Given the description of an element on the screen output the (x, y) to click on. 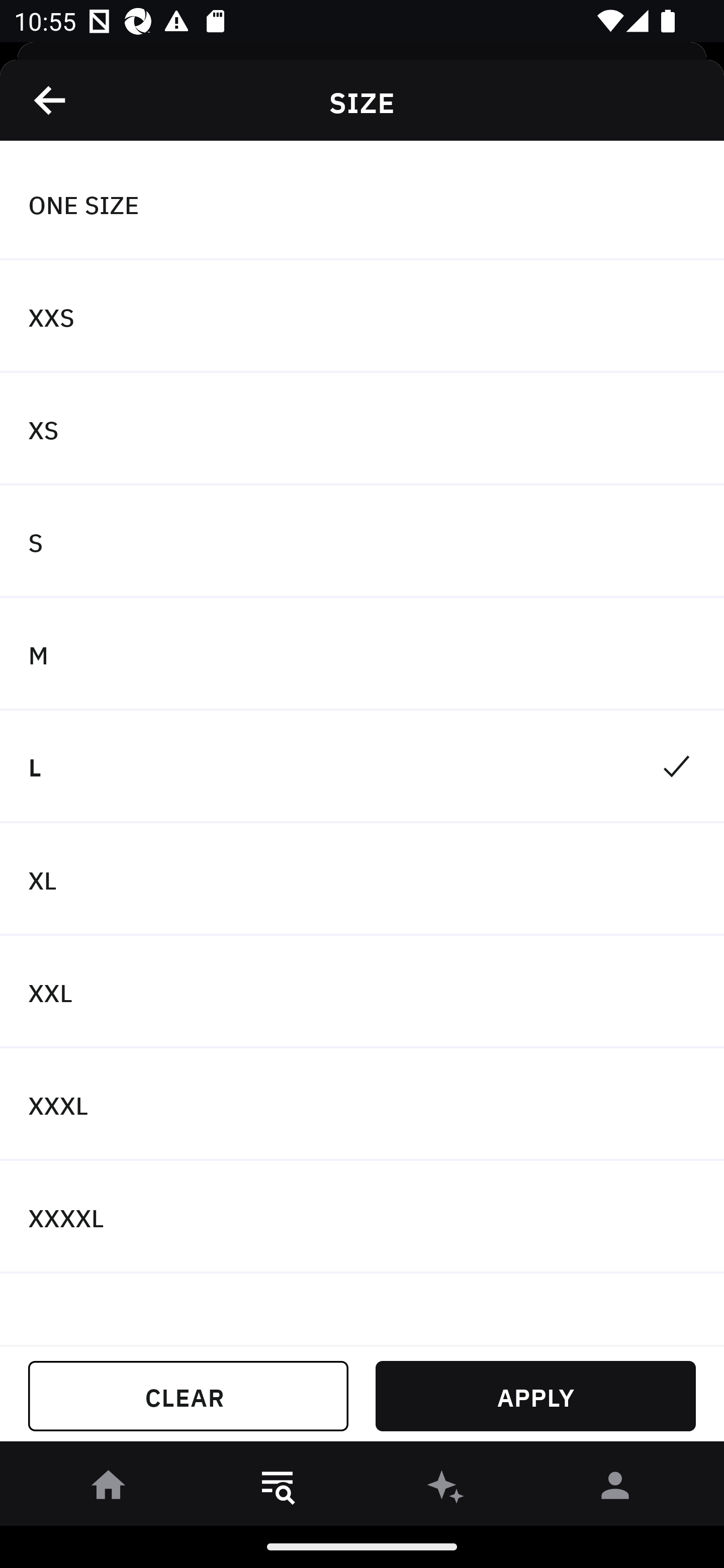
 (50, 100)
ONE SIZE (362, 203)
XXS (362, 316)
XS (362, 429)
S (362, 541)
M (362, 653)
L  (362, 766)
XL (362, 879)
XXL (362, 992)
XXXL (362, 1104)
XXXXL (362, 1216)
CLEAR  (188, 1396)
APPLY (535, 1396)
󰋜 (108, 1488)
󱎸 (277, 1488)
󰫢 (446, 1488)
󰀄 (615, 1488)
